Given the description of an element on the screen output the (x, y) to click on. 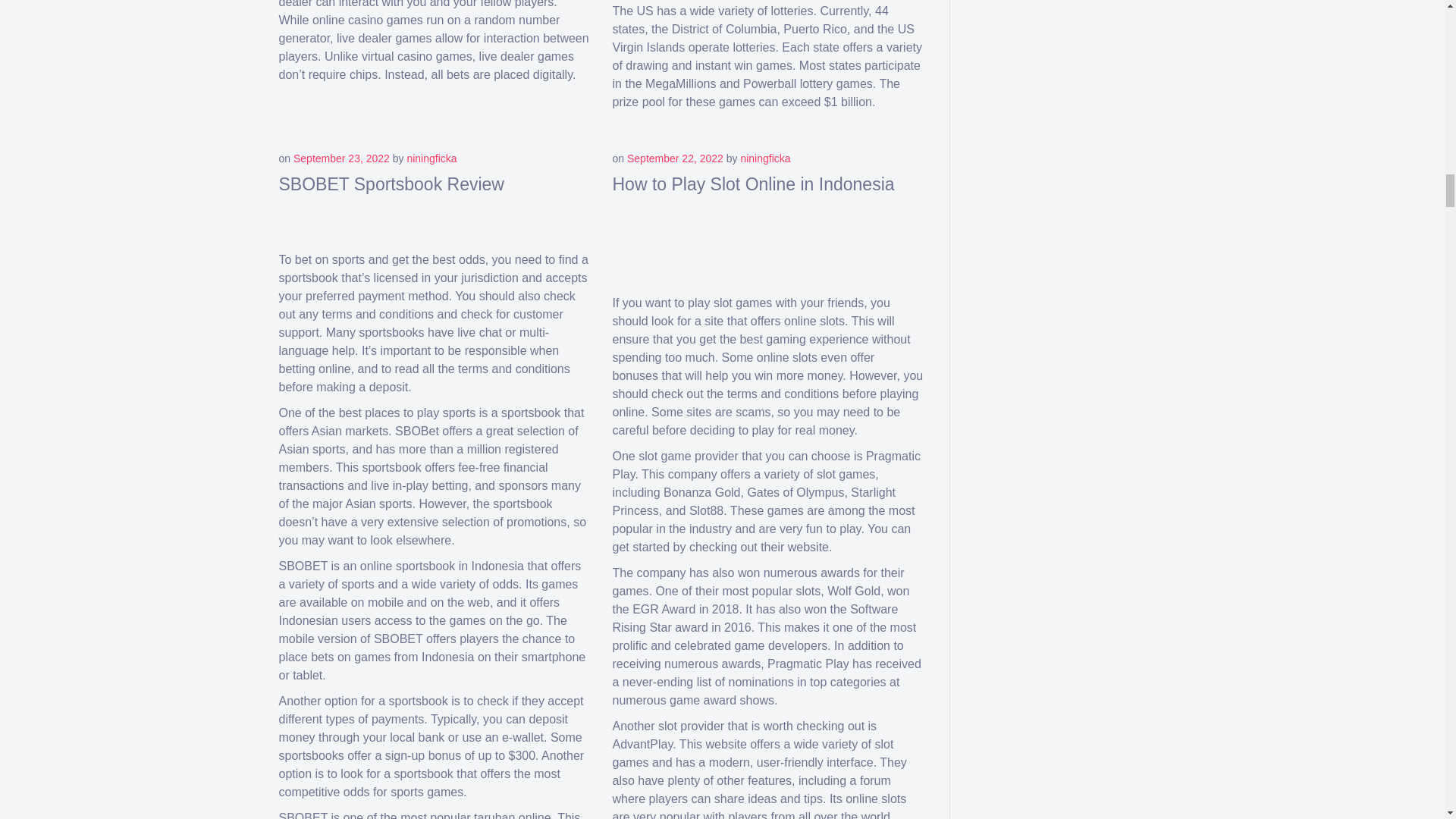
September 23, 2022 (342, 158)
September 22, 2022 (675, 158)
How to Play Slot Online in Indonesia (753, 184)
niningficka (431, 158)
SBOBET Sportsbook Review (391, 184)
niningficka (764, 158)
